Given the description of an element on the screen output the (x, y) to click on. 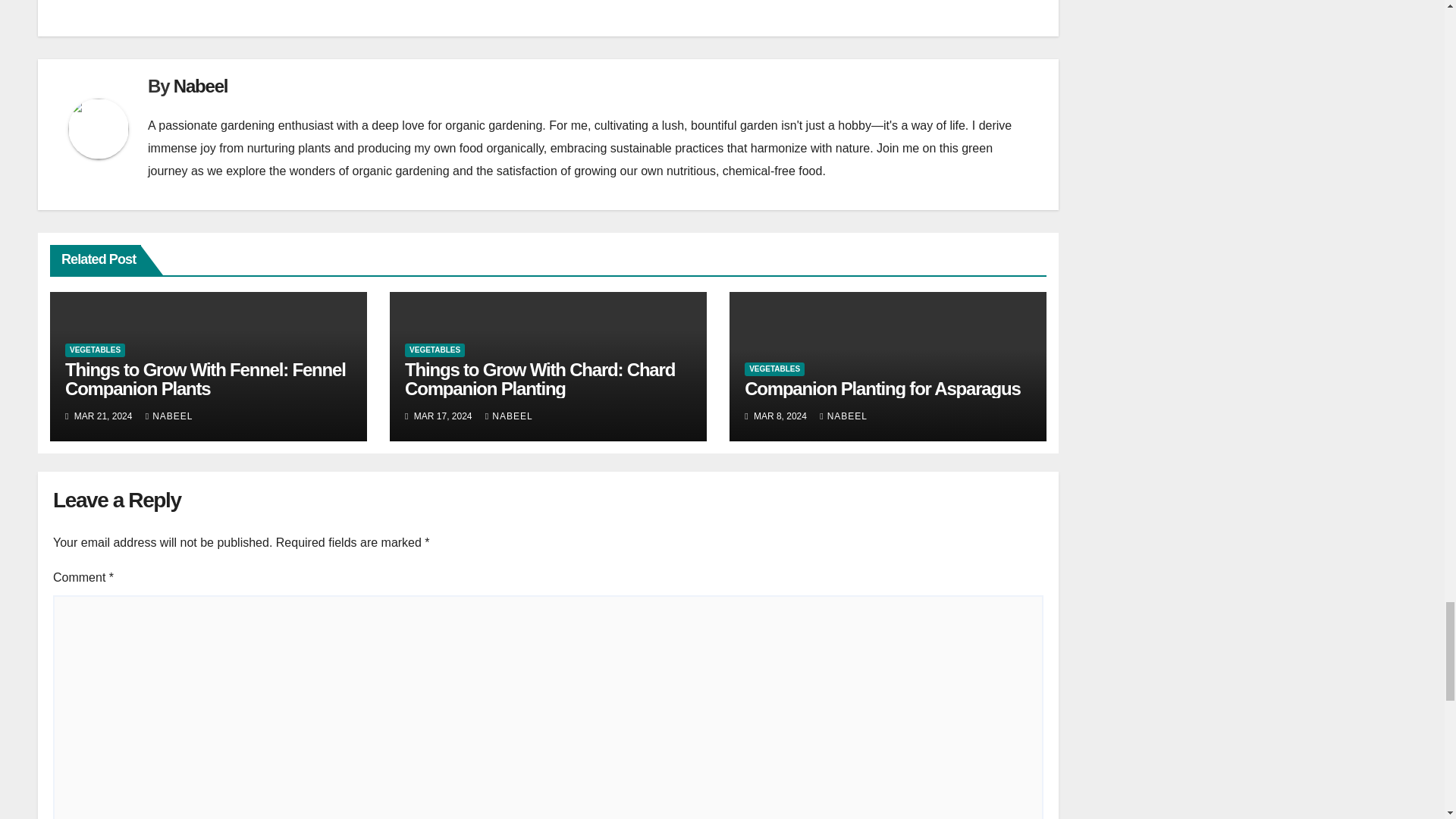
Permalink to: Companion Planting for Asparagus (882, 388)
